Given the description of an element on the screen output the (x, y) to click on. 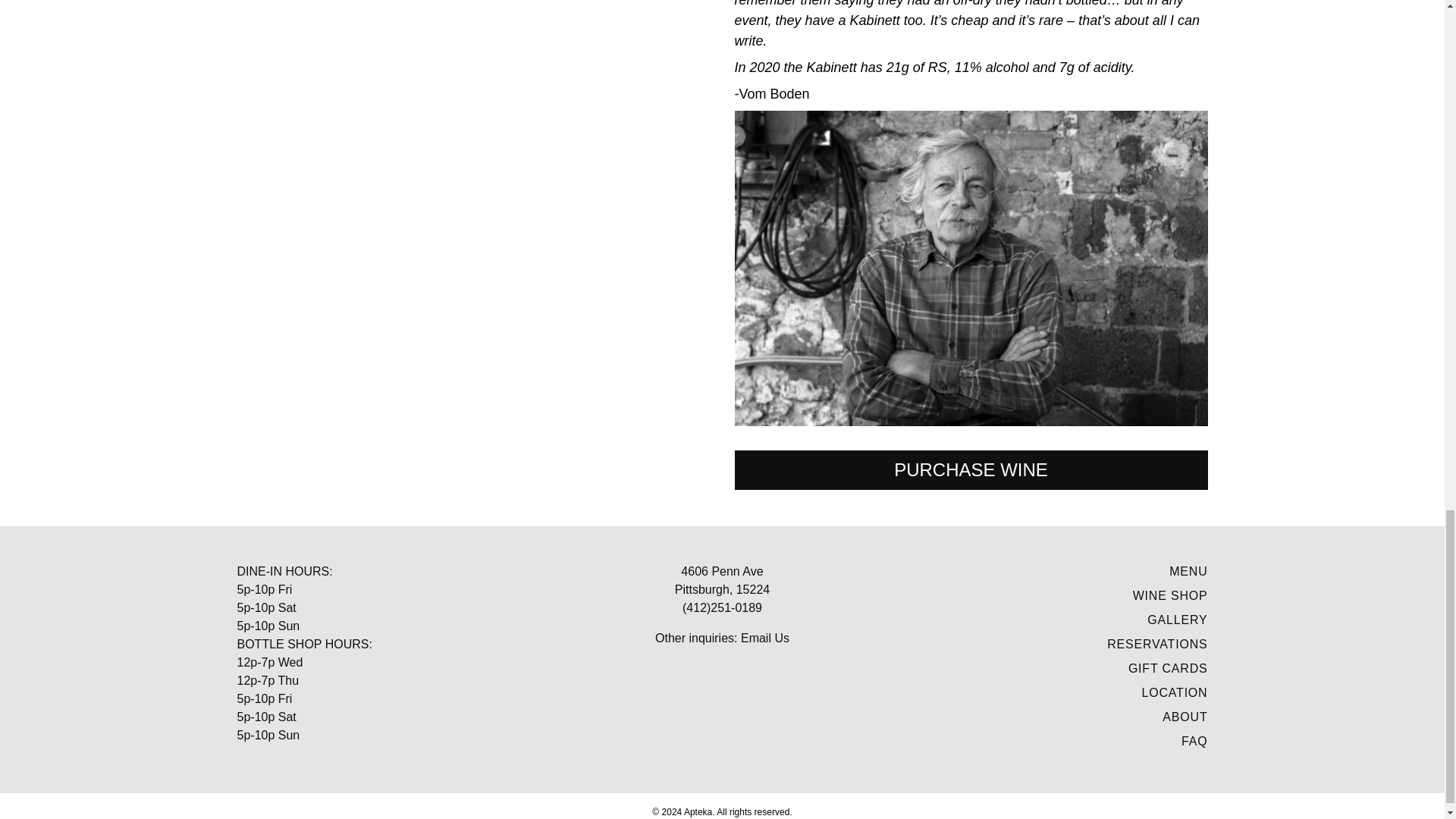
ABOUT (1184, 716)
GALLERY (1177, 619)
GIFT CARDS (1168, 667)
RESERVATIONS (1156, 644)
PURCHASE WINE (970, 469)
Email Us (765, 637)
WINE SHOP (1170, 594)
LOCATION (1174, 692)
FAQ (1193, 740)
MENU (1188, 571)
